Given the description of an element on the screen output the (x, y) to click on. 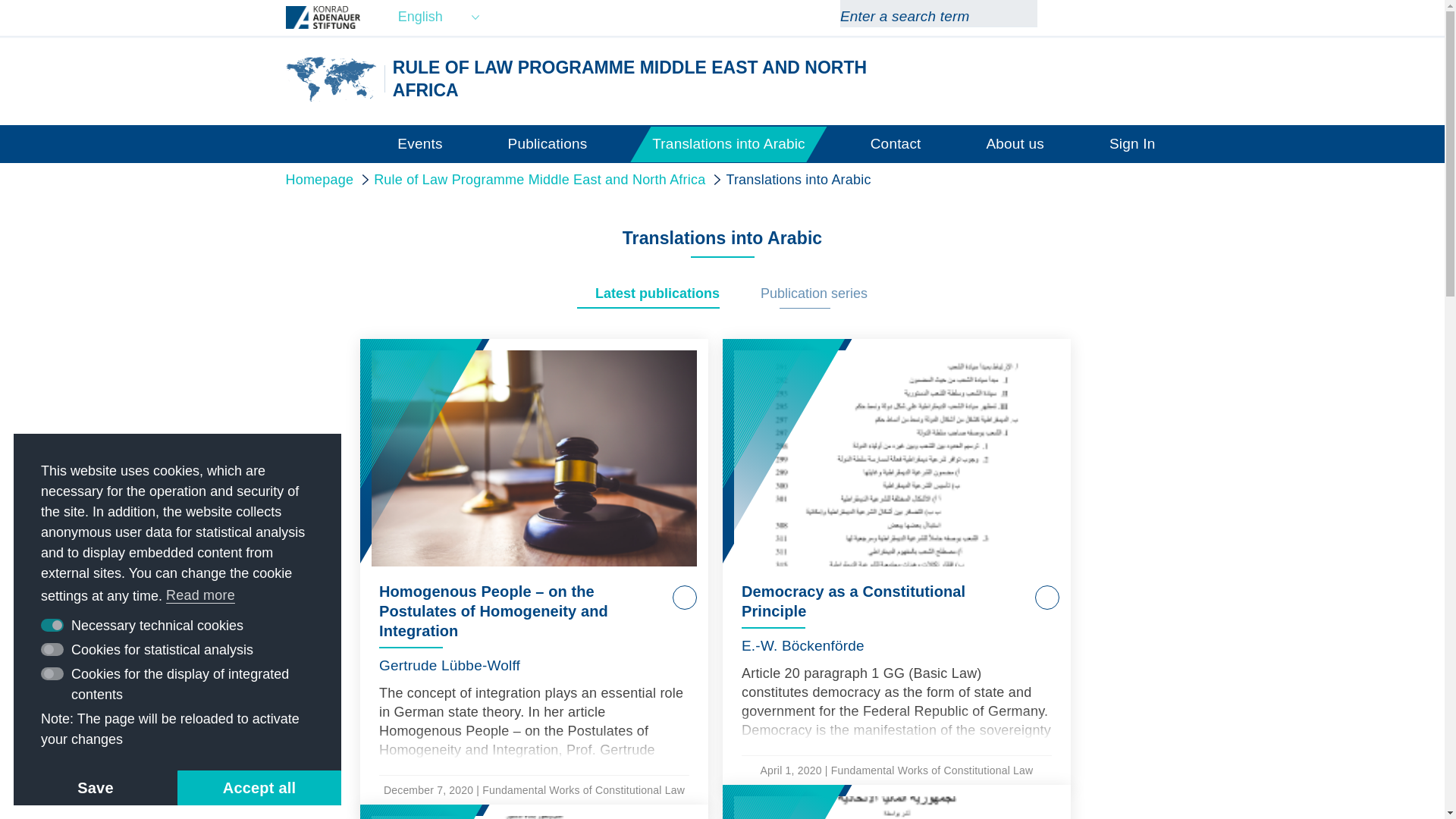
Instagram (1122, 16)
Contact (895, 142)
Accept all (258, 787)
Instagram (1122, 17)
Twitter (1095, 17)
Origin and Change of the Constitution (533, 811)
Translations into Arabic (728, 142)
Publications (548, 142)
Save (95, 787)
Human Dignity as the Foundation of the State Community (896, 801)
